Given the description of an element on the screen output the (x, y) to click on. 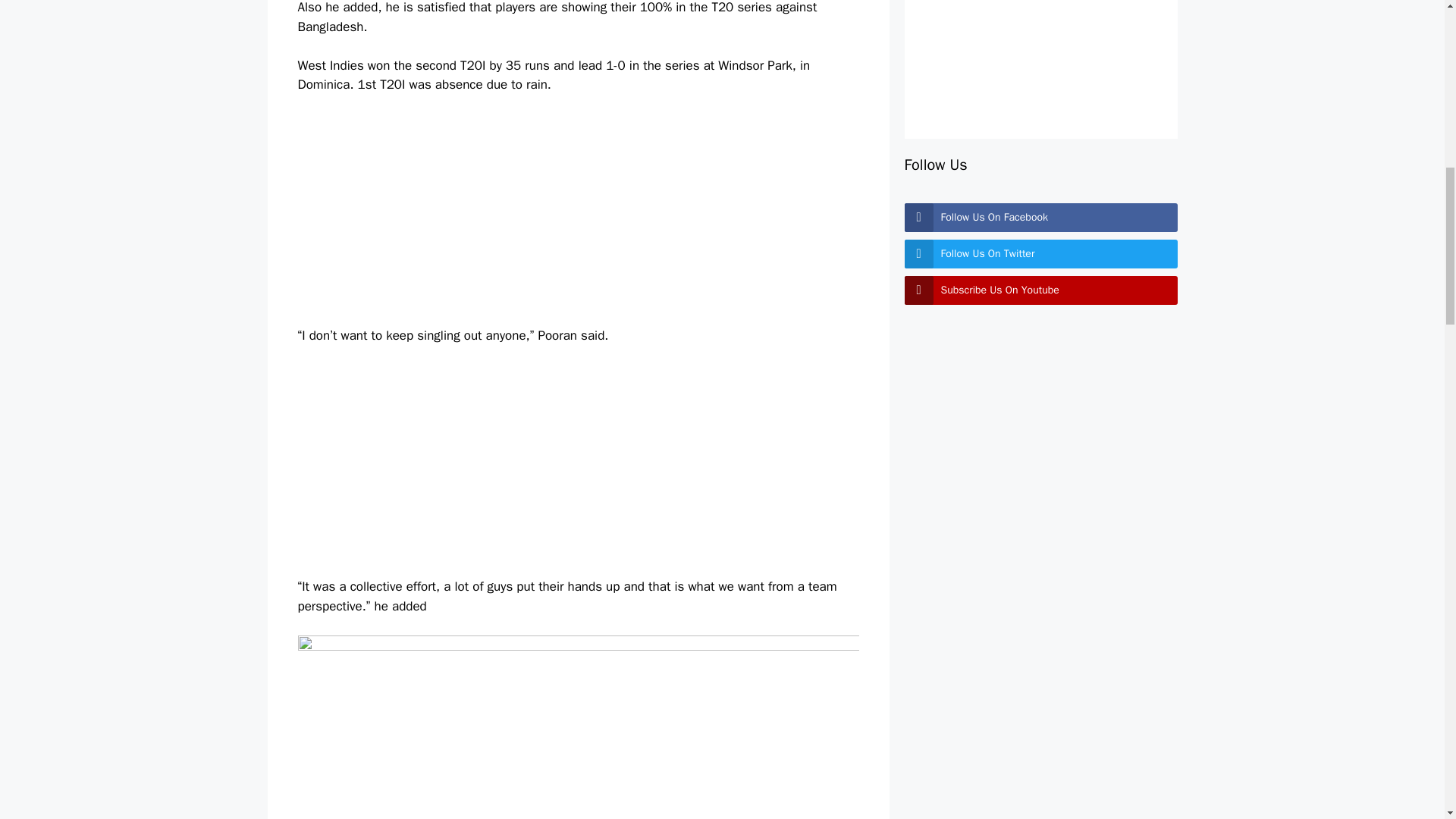
Subscribe Us On Youtube (1040, 290)
Follow Us On Facebook (1040, 217)
Advertisement (1040, 49)
Advertisement (578, 470)
Follow Us On Twitter (1040, 253)
Advertisement (578, 219)
